Given the description of an element on the screen output the (x, y) to click on. 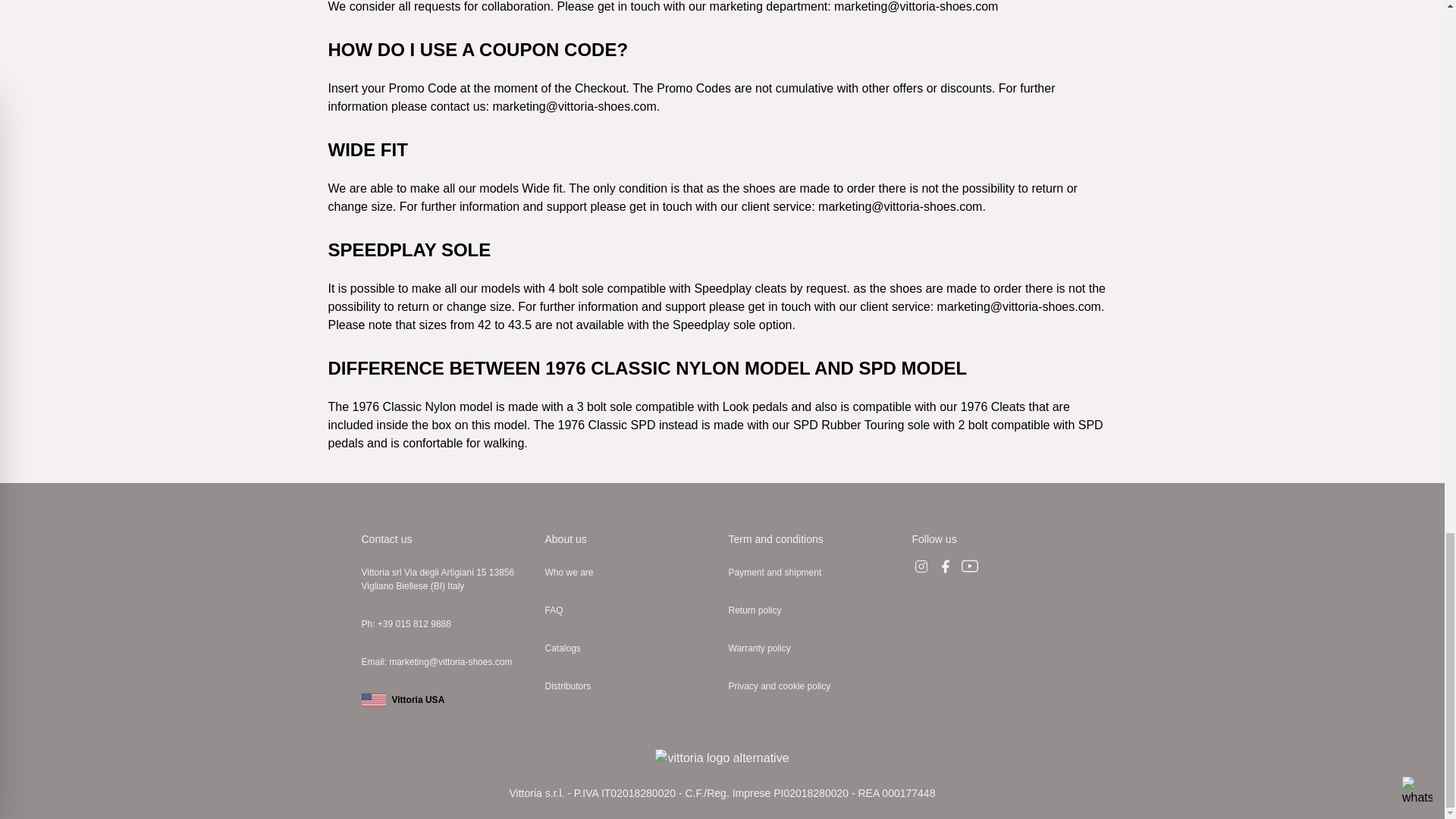
Distributors (630, 685)
Return policy (813, 610)
Catalogs (630, 648)
Warranty policy (813, 648)
Privacy and cookie policy (813, 685)
About us (565, 539)
Vittoria USA (446, 699)
Payment and shipment (813, 572)
Who we are (630, 572)
FAQ (630, 610)
